Given the description of an element on the screen output the (x, y) to click on. 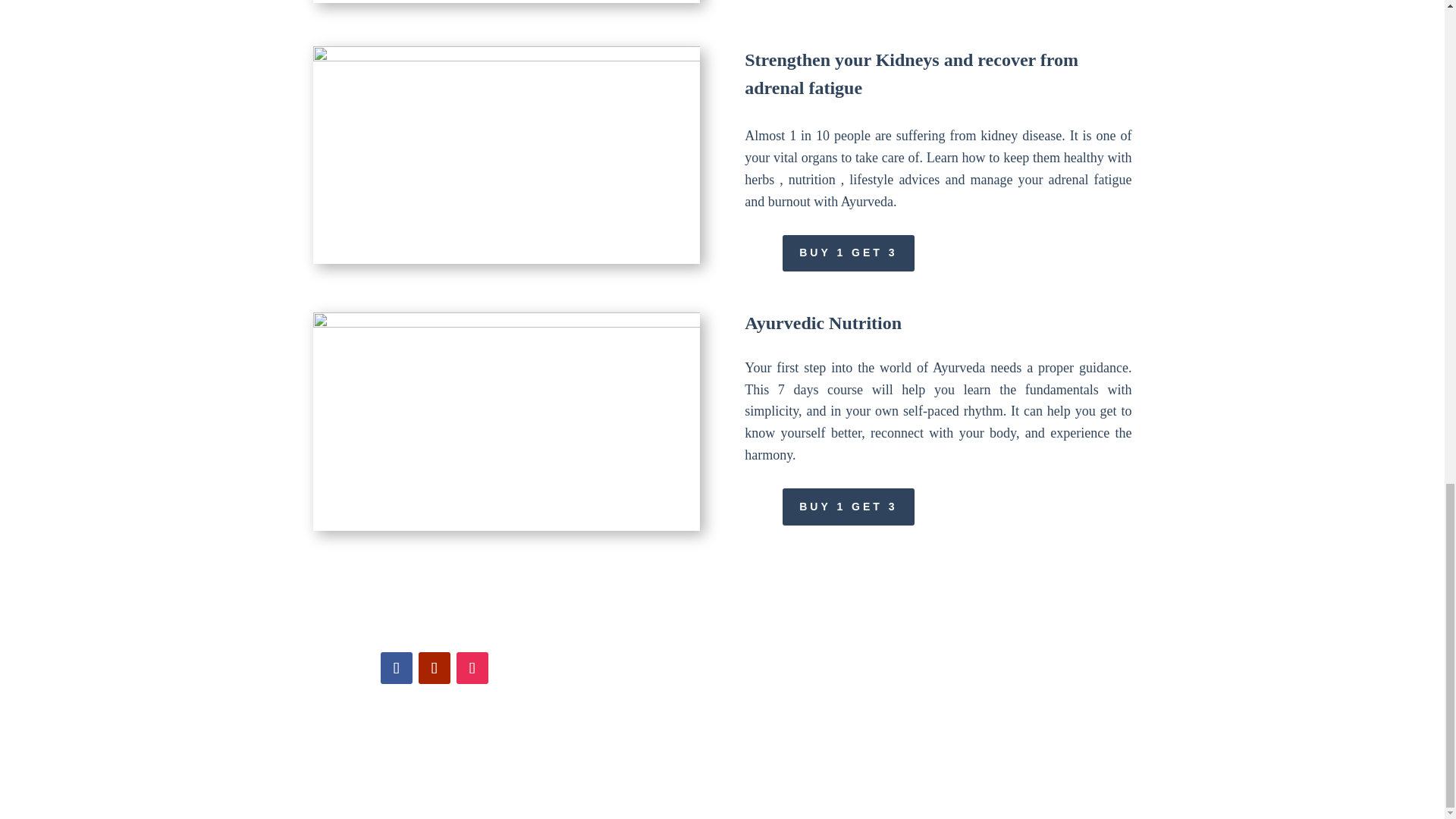
BUY 1 GET 3 (848, 253)
BUY 1 GET 3 (848, 506)
Follow on Youtube (434, 667)
Online Platform Headers (505, 154)
Follow on Facebook (396, 667)
Follow on Instagram (472, 667)
Online Platform Headers (505, 420)
